Given the description of an element on the screen output the (x, y) to click on. 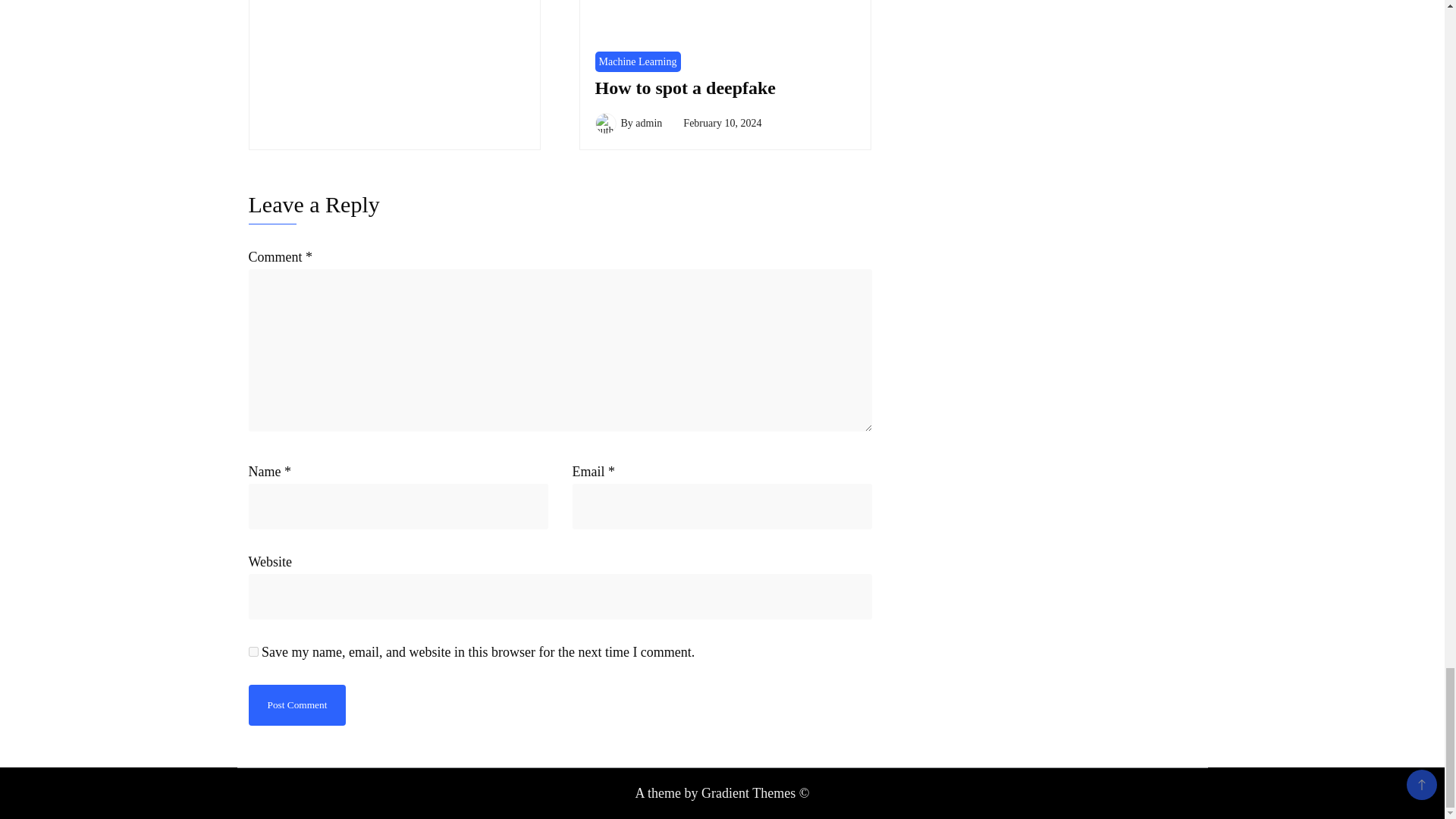
yes (253, 651)
Machine Learning (636, 61)
How to spot a deepfake (685, 87)
admin (648, 122)
Post Comment (297, 704)
